Given the description of an element on the screen output the (x, y) to click on. 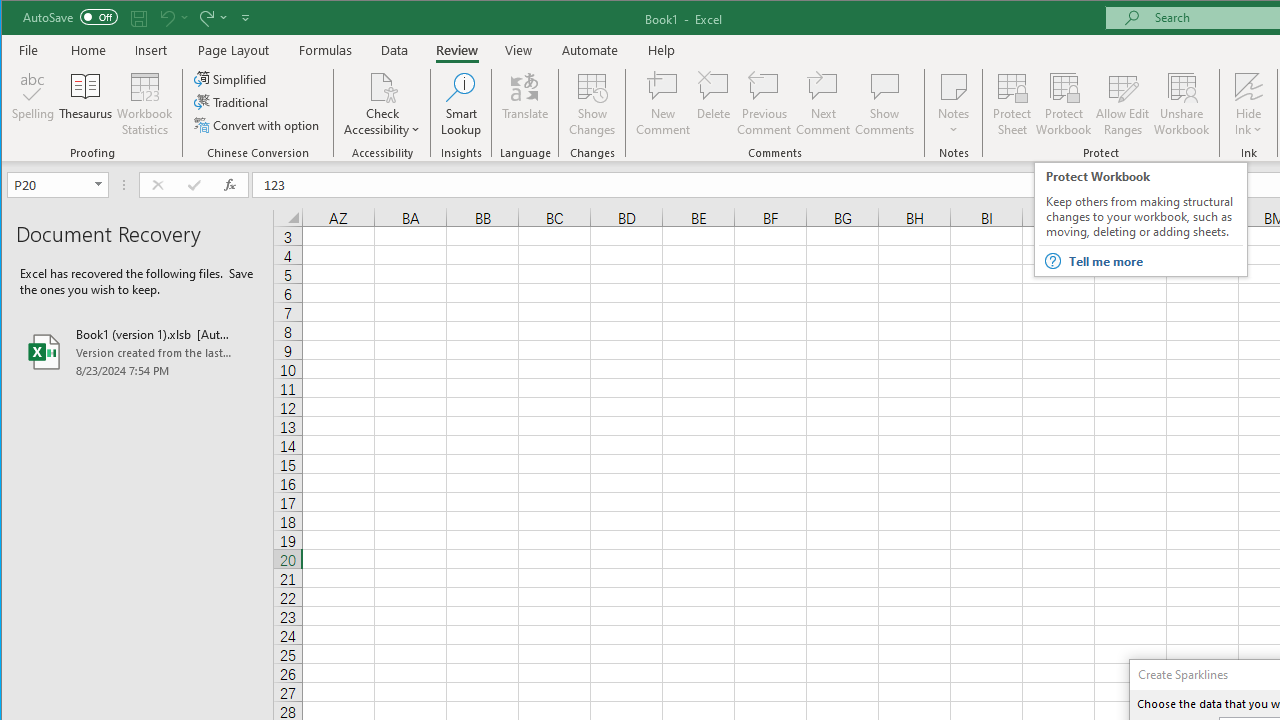
Hide Ink (1248, 86)
Tell me more (1154, 261)
Show Comments (884, 104)
Protect Workbook... (1064, 104)
Unshare Workbook (1182, 104)
